Given the description of an element on the screen output the (x, y) to click on. 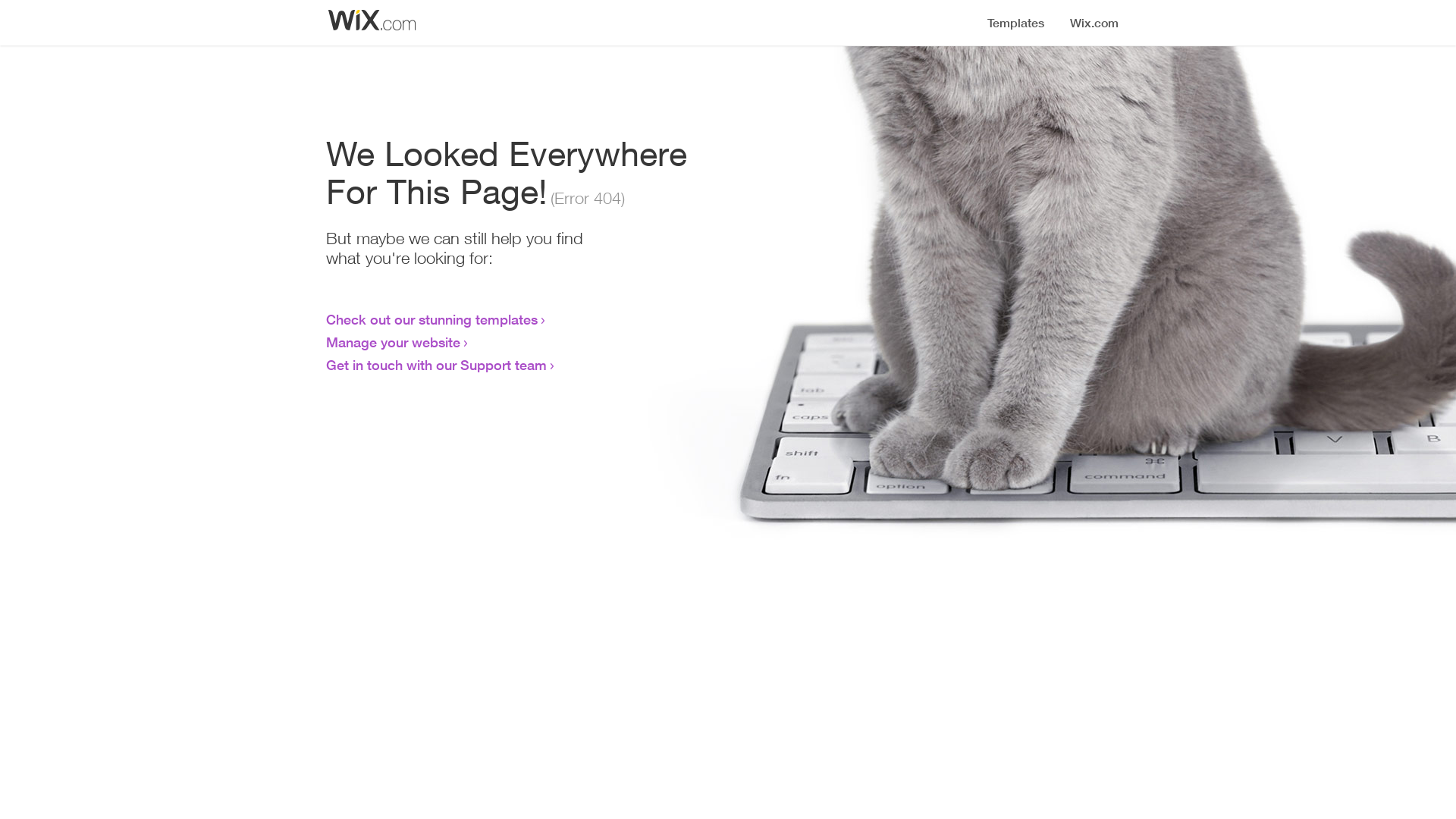
Get in touch with our Support team Element type: text (436, 364)
Manage your website Element type: text (393, 341)
Check out our stunning templates Element type: text (431, 318)
